Given the description of an element on the screen output the (x, y) to click on. 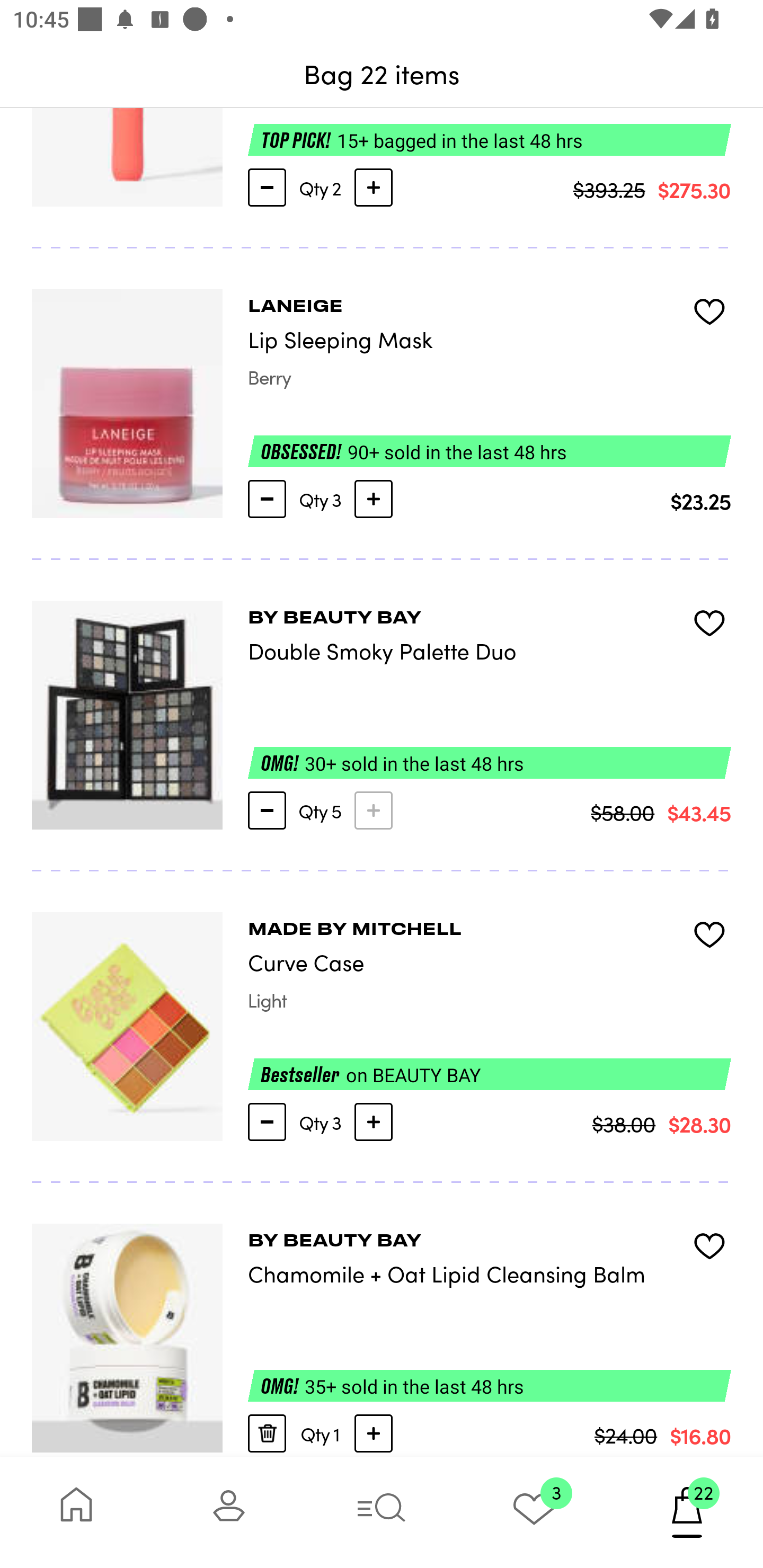
3 (533, 1512)
22 (686, 1512)
